Given the description of an element on the screen output the (x, y) to click on. 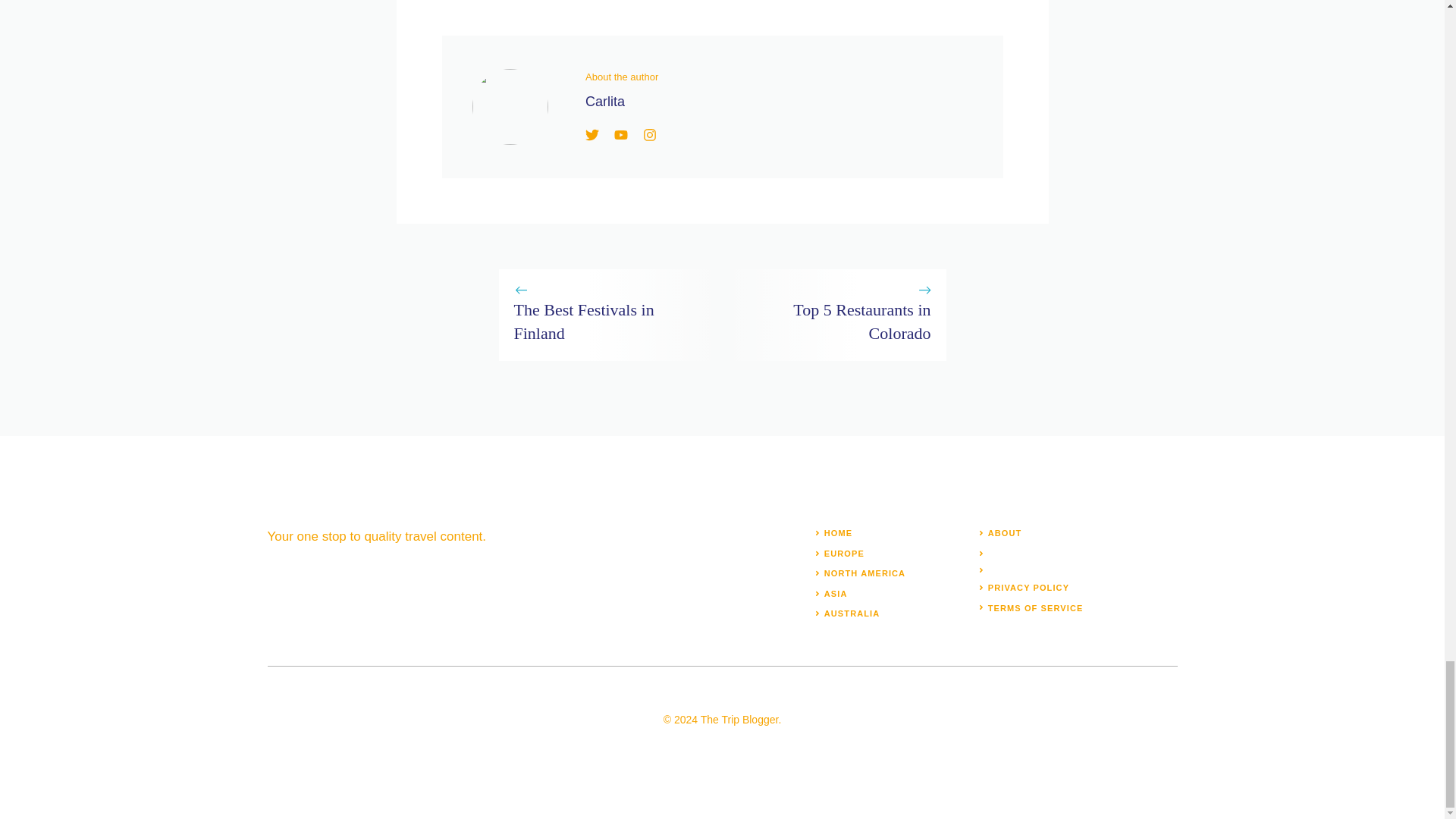
ABOUT (1005, 532)
Top 5 Restaurants in Colorado (861, 321)
ASIA (835, 593)
TERMS OF SERVICE (1035, 607)
NORTH AMERICA (864, 573)
The Best Festivals in Finland (583, 321)
EUROPE (844, 552)
HOME (837, 532)
PRIVACY POLICY (1028, 587)
AUSTRALIA (851, 613)
